Given the description of an element on the screen output the (x, y) to click on. 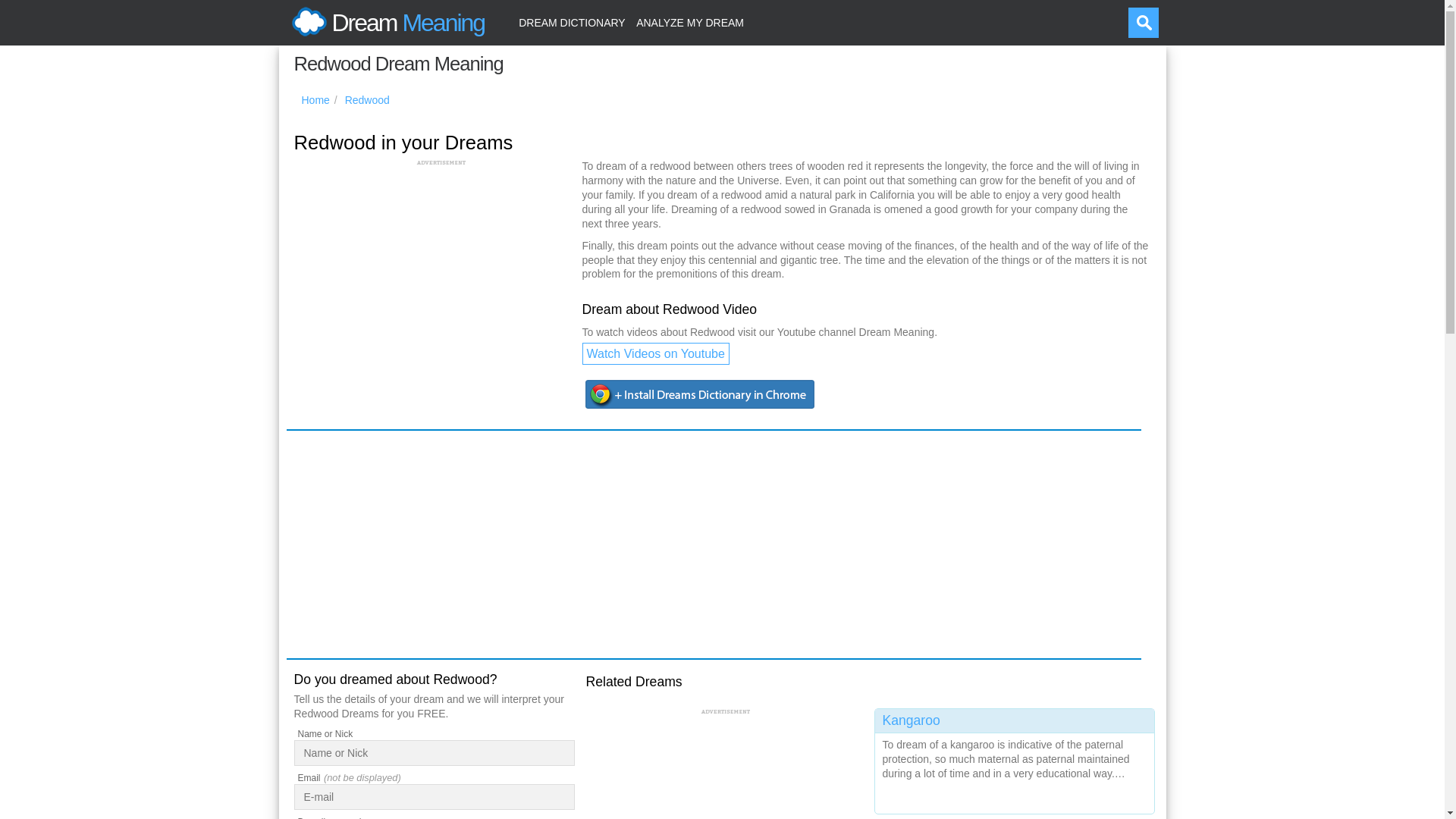
Redwood Dreams Interpretations and Meanings Explained (367, 100)
Dream Meaning Videos (655, 353)
Kangaroo Dream Meaning (1014, 757)
Dreams Interpretation and Meaning (385, 22)
ANALYZE MY DREAM (690, 22)
Dream Dictionary (572, 22)
Home (315, 100)
Dream Meaning (385, 22)
DREAM DICTIONARY (572, 22)
Analyze my Dream (690, 22)
